Given the description of an element on the screen output the (x, y) to click on. 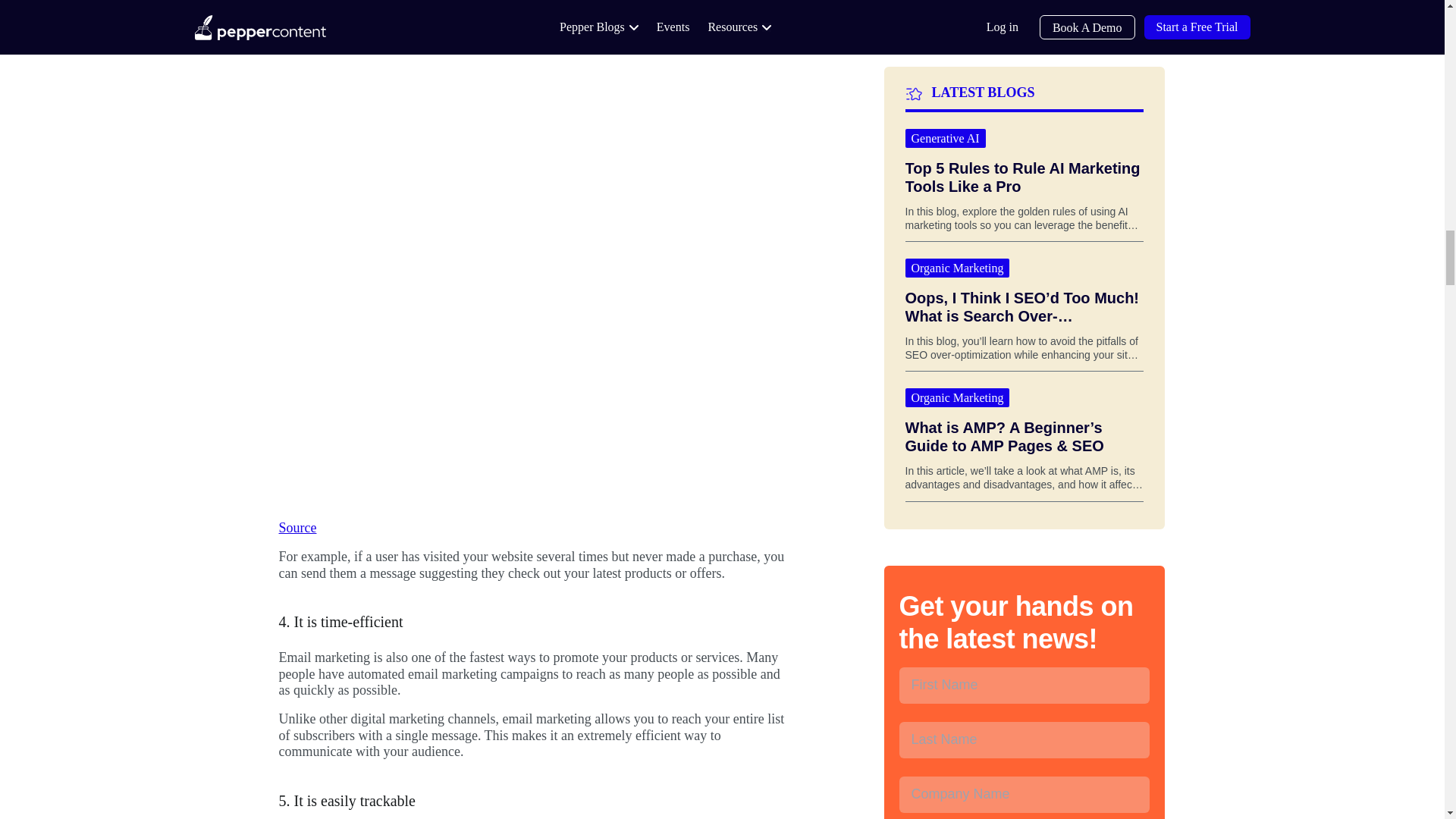
Source (298, 527)
